Given the description of an element on the screen output the (x, y) to click on. 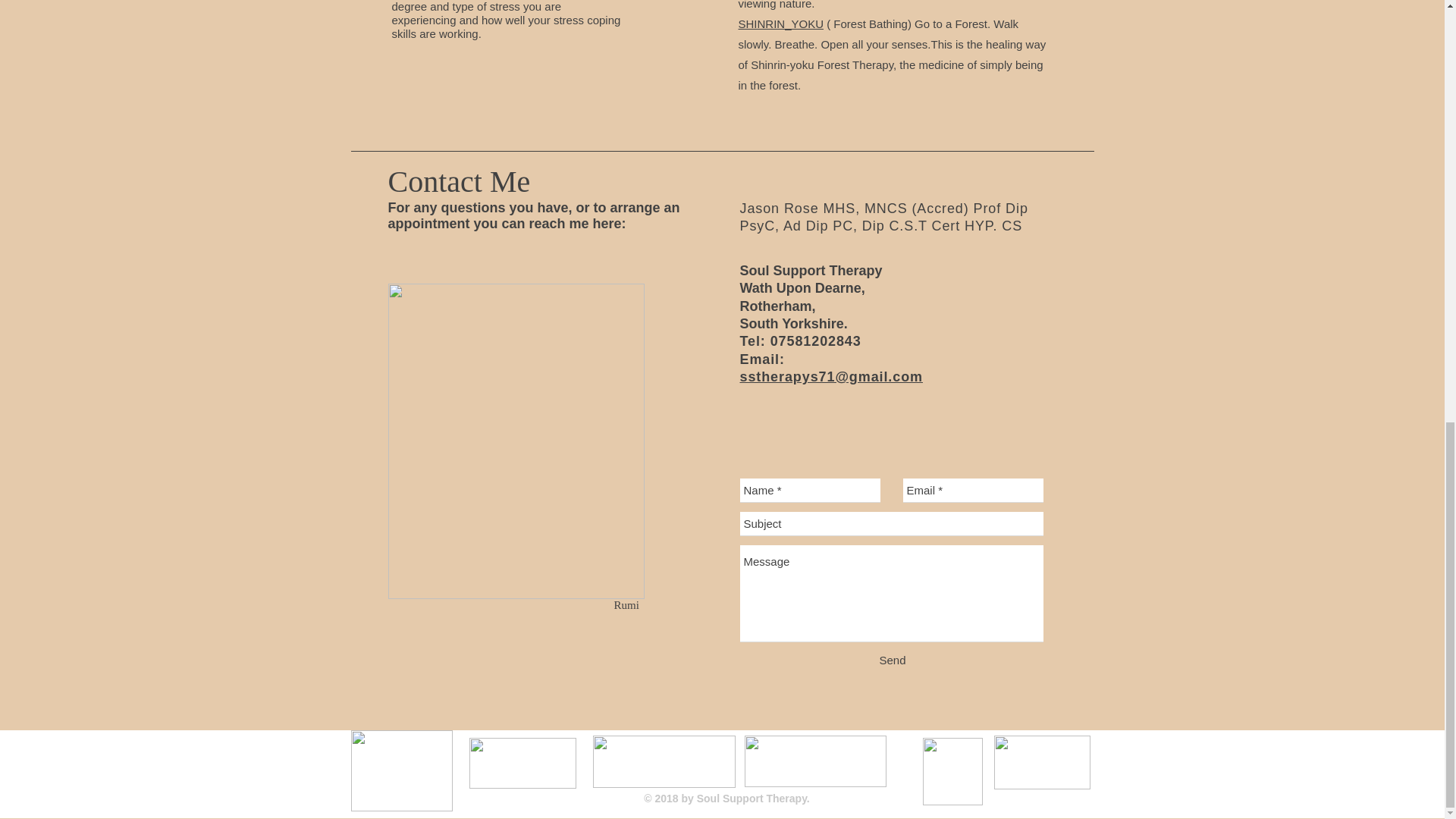
Send (892, 659)
